Given the description of an element on the screen output the (x, y) to click on. 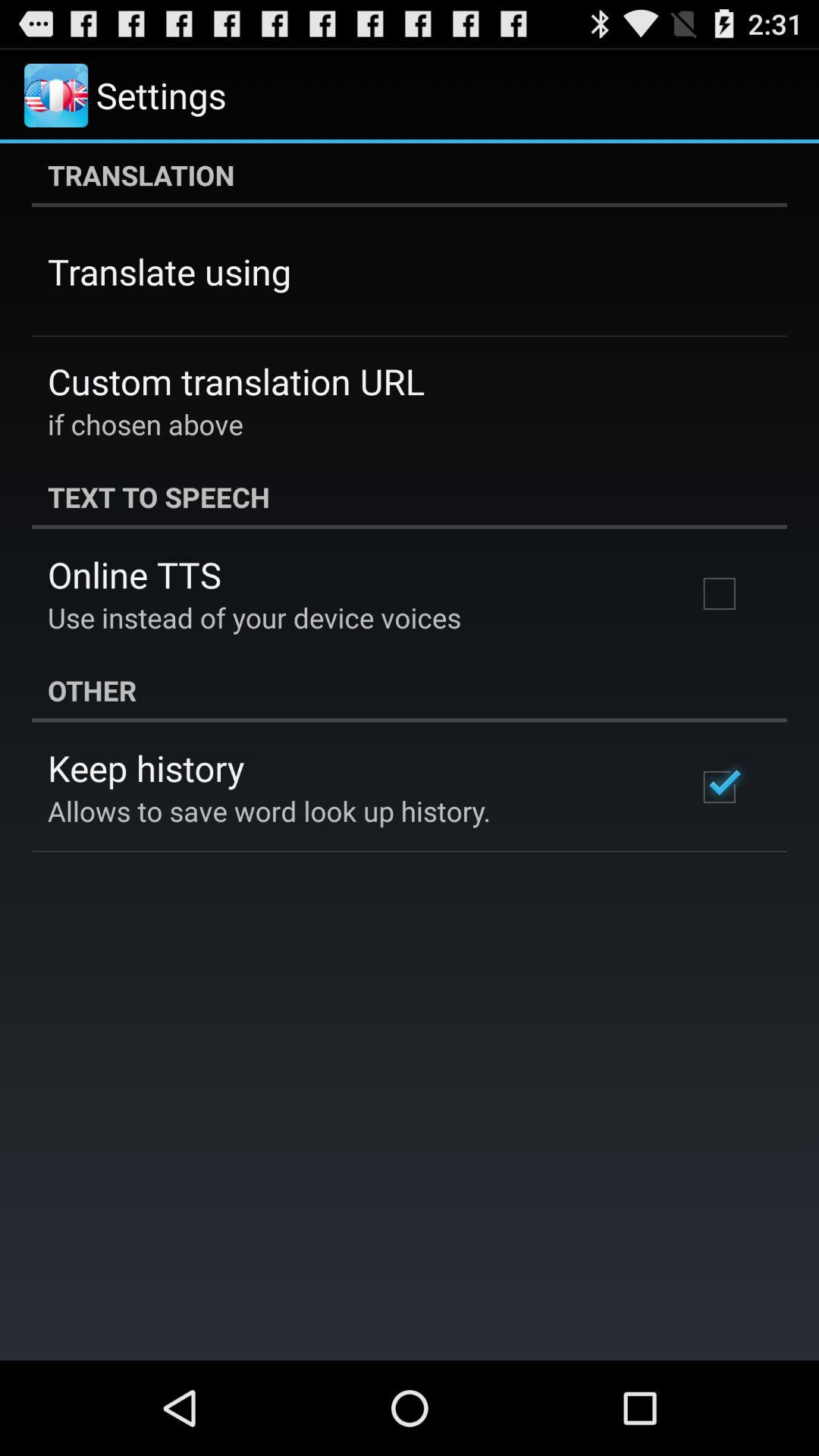
launch the icon above the text to speech icon (145, 424)
